Given the description of an element on the screen output the (x, y) to click on. 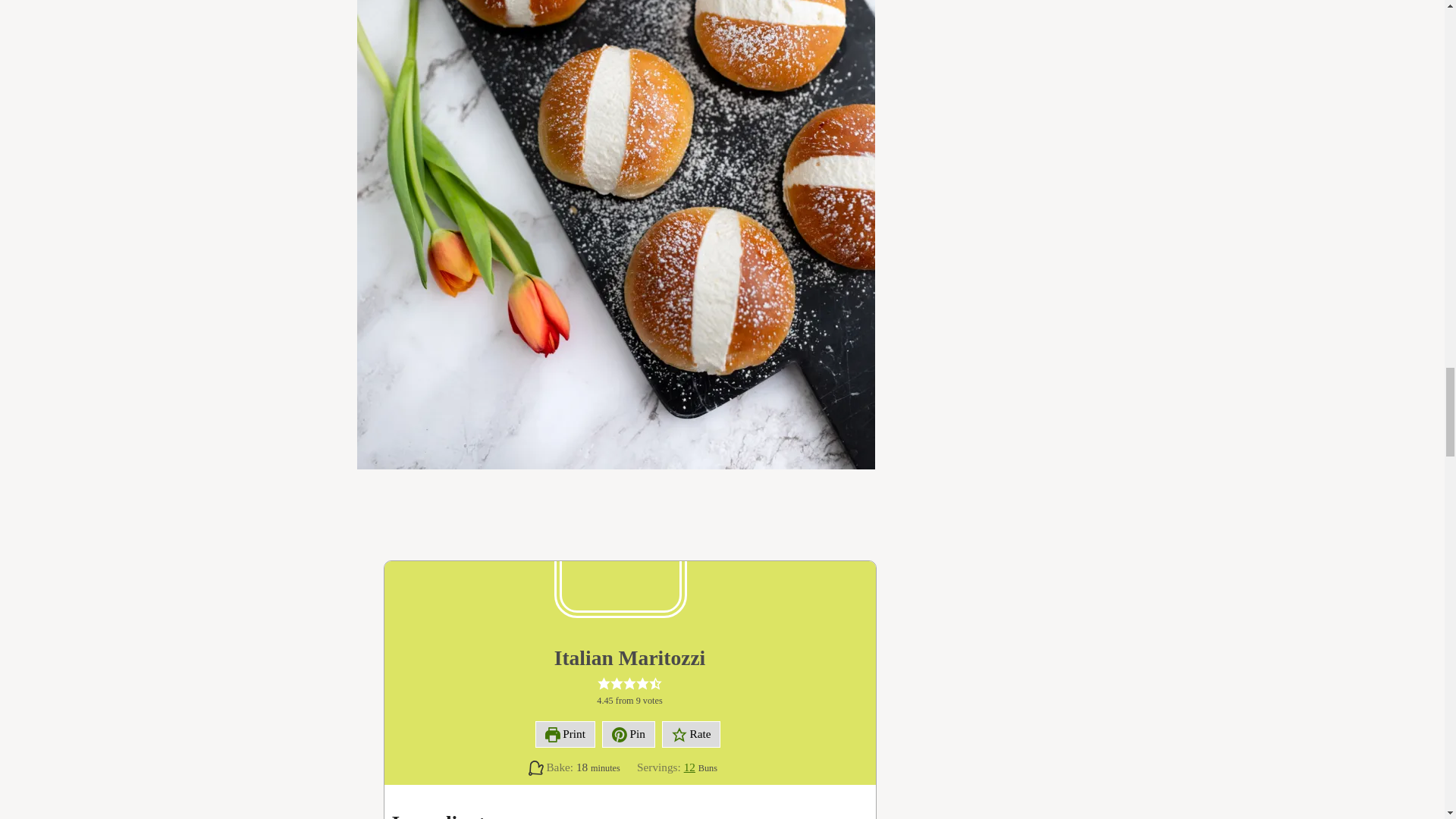
Rate (691, 734)
Pin (628, 734)
Print (565, 734)
